Given the description of an element on the screen output the (x, y) to click on. 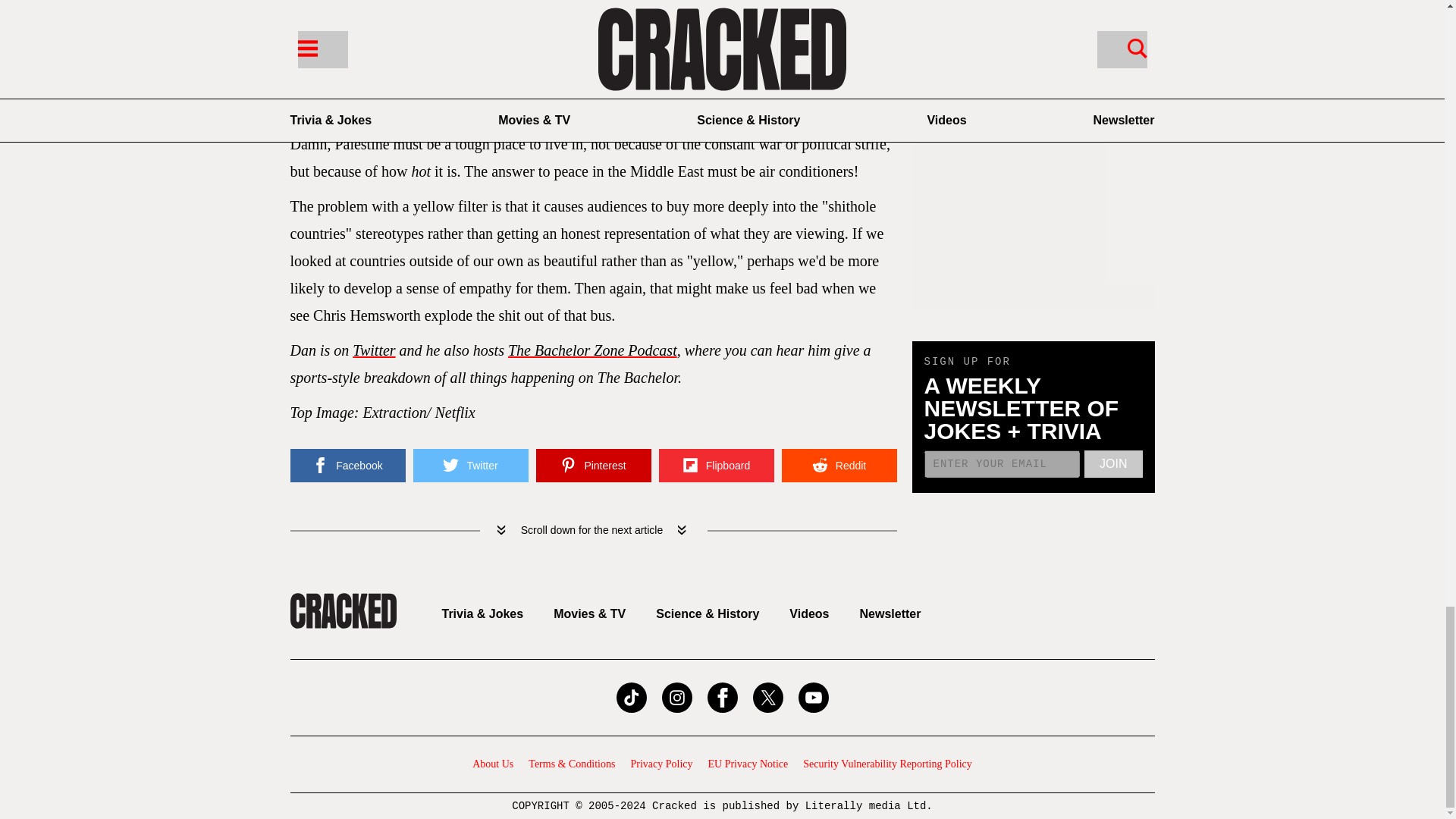
The Bachelor Zone Podcast (592, 350)
Twitter (373, 350)
Facebook (346, 465)
